Given the description of an element on the screen output the (x, y) to click on. 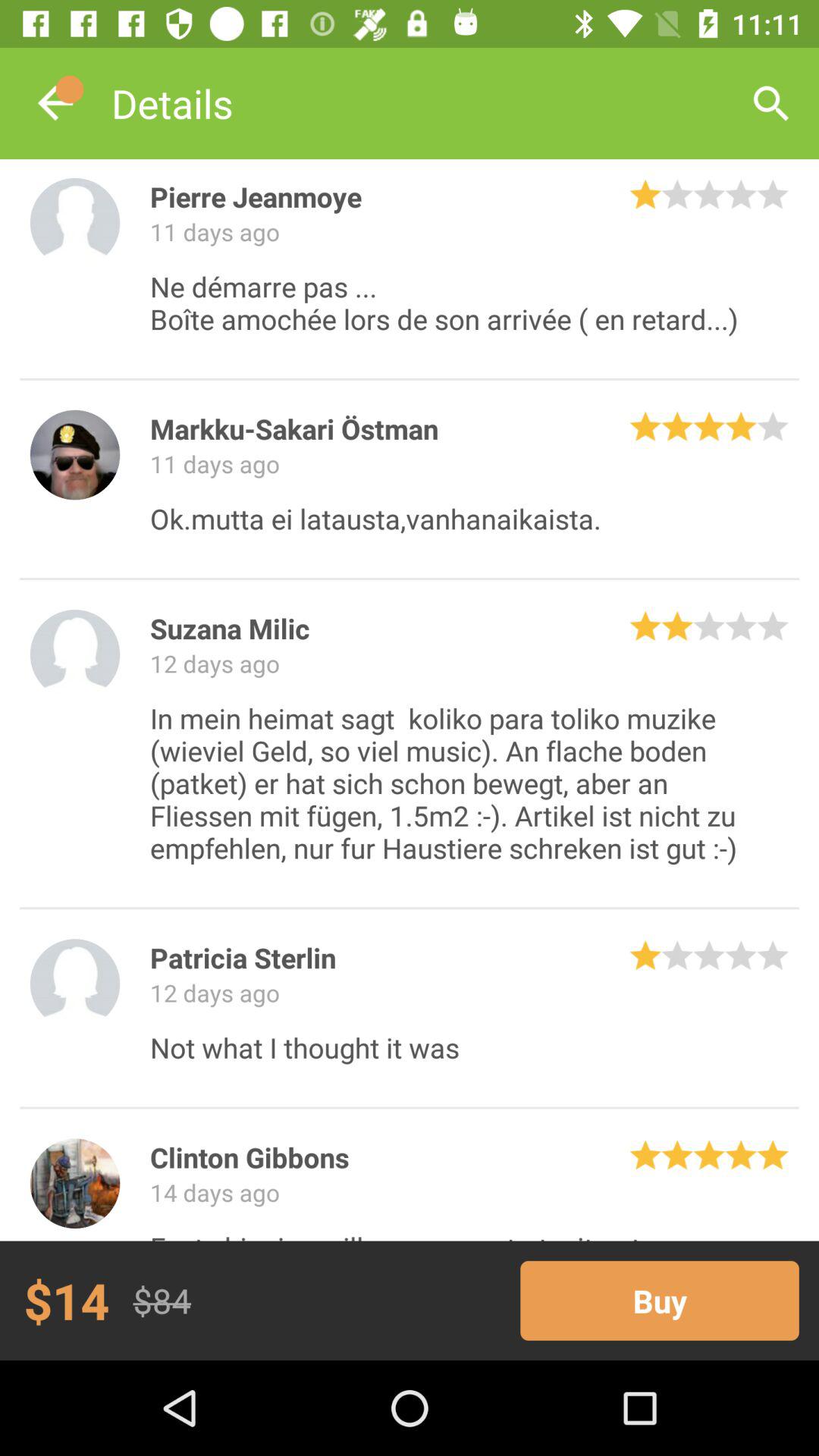
tap the item to the left of the details icon (55, 103)
